Given the description of an element on the screen output the (x, y) to click on. 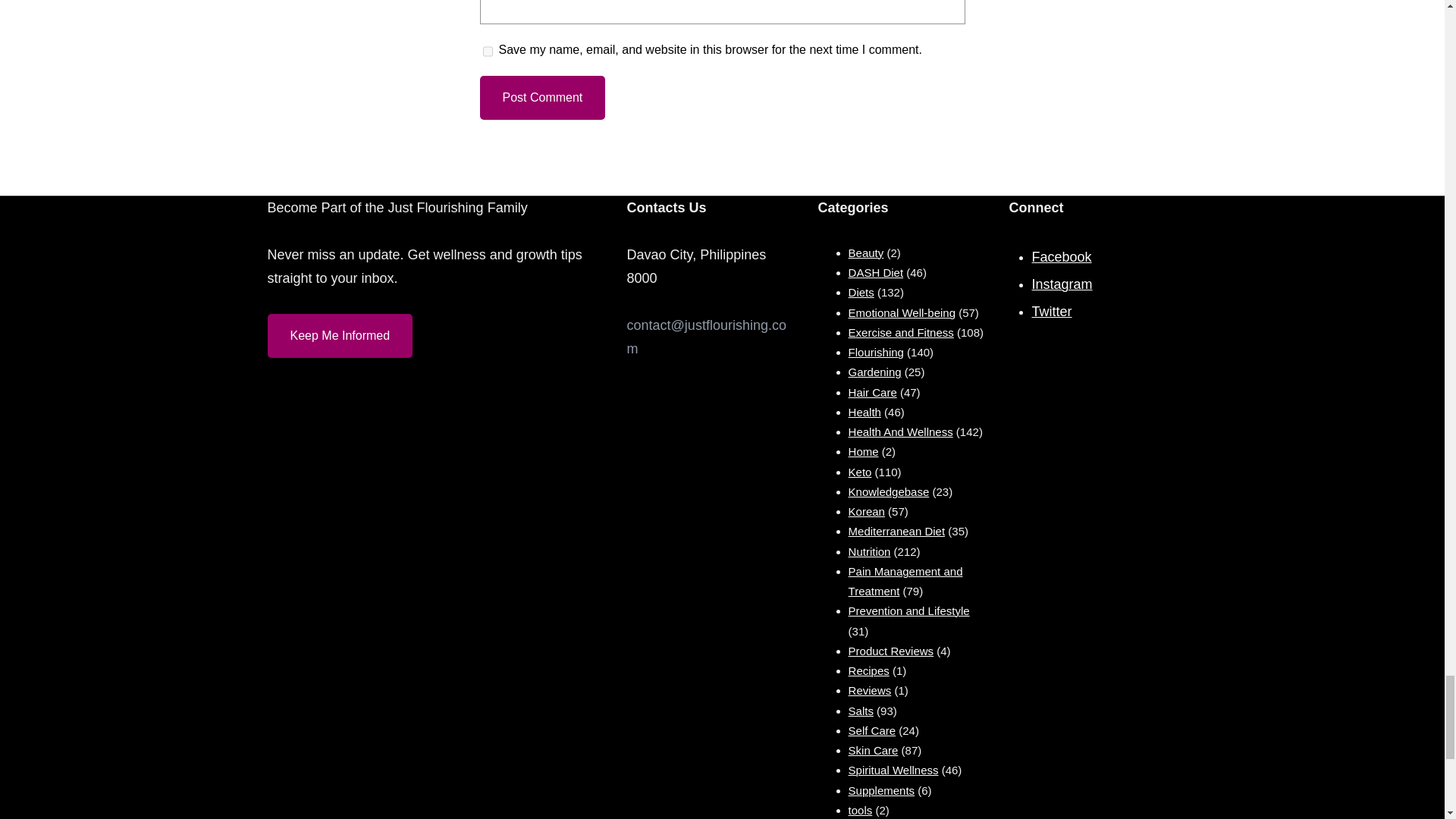
Prevention and Lifestyle (908, 610)
Product Reviews (891, 650)
Knowledgebase (889, 491)
Gardening (874, 371)
Post Comment (542, 97)
Mediterranean Diet (896, 530)
Beauty (865, 252)
Flourishing (876, 351)
Exercise and Fitness (900, 332)
Korean (866, 511)
Keto (860, 472)
Diets (861, 291)
Home (863, 451)
DASH Diet (876, 272)
Hair Care (872, 391)
